Given the description of an element on the screen output the (x, y) to click on. 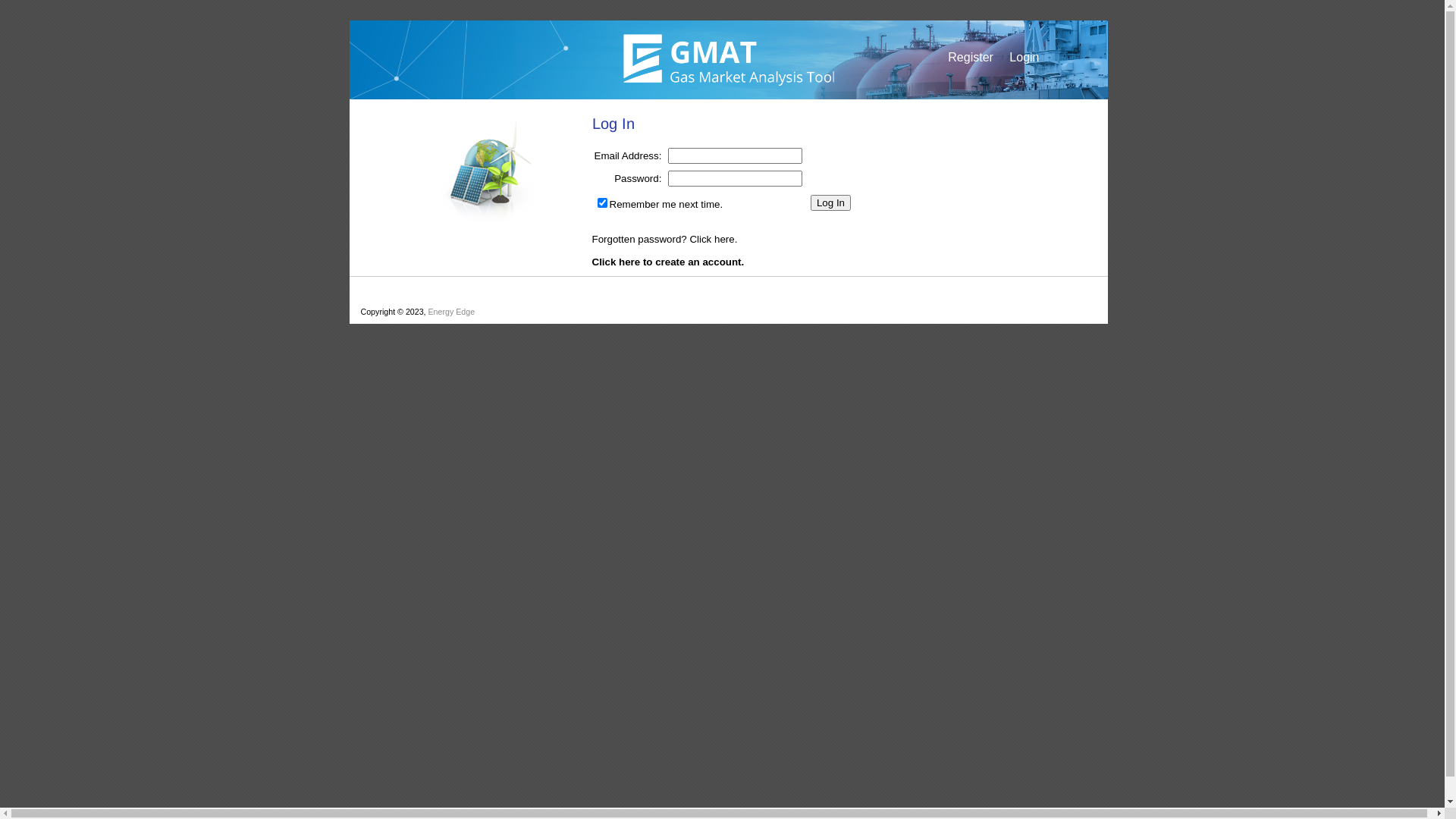
Log In Element type: text (830, 202)
Login Element type: text (1058, 56)
Click here to create an account. Element type: text (667, 261)
Register Element type: text (976, 56)
Forgotten password? Click here. Element type: text (664, 238)
Energy Edge Element type: text (451, 311)
